Given the description of an element on the screen output the (x, y) to click on. 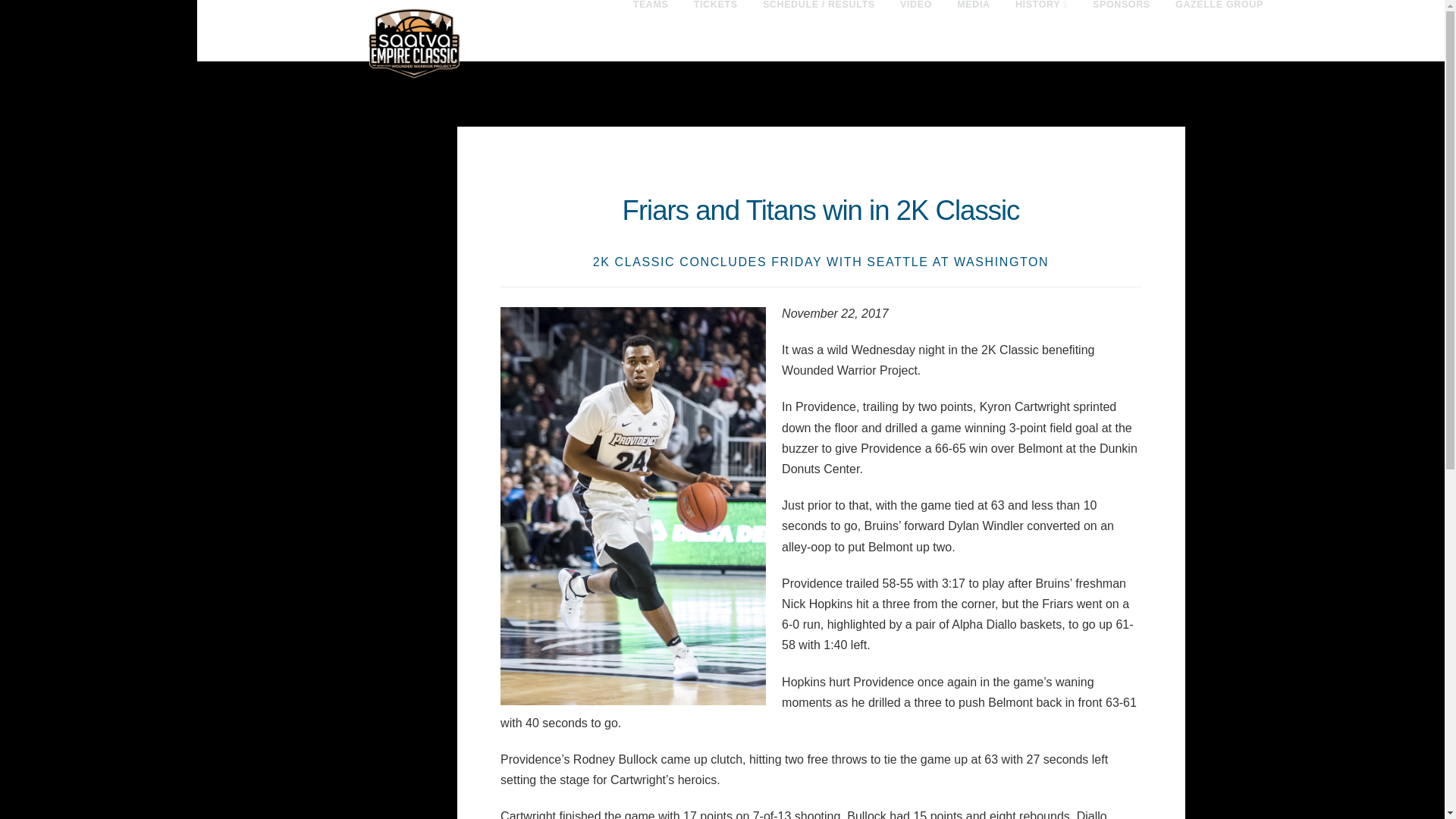
MEDIA (973, 30)
HISTORY (1041, 30)
TICKETS (715, 30)
Back to Top (1423, 797)
TEAMS (650, 30)
GAZELLE GROUP (1218, 30)
SPONSORS (1120, 30)
VIDEO (914, 30)
